Given the description of an element on the screen output the (x, y) to click on. 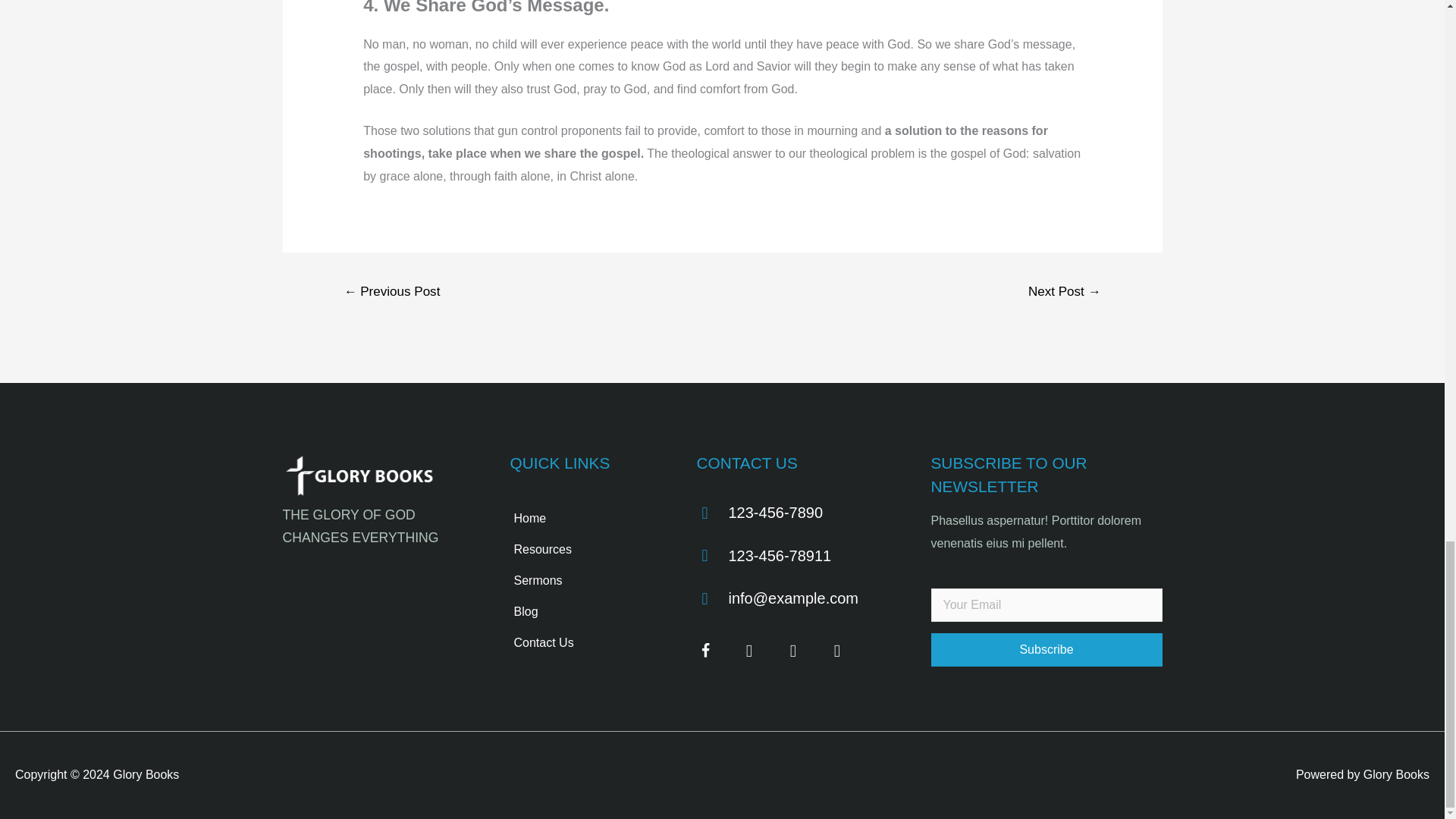
Subscribe (1046, 649)
Home (584, 518)
Contact Us (584, 642)
Resources (584, 549)
Sermons (584, 580)
Blog (584, 611)
